Given the description of an element on the screen output the (x, y) to click on. 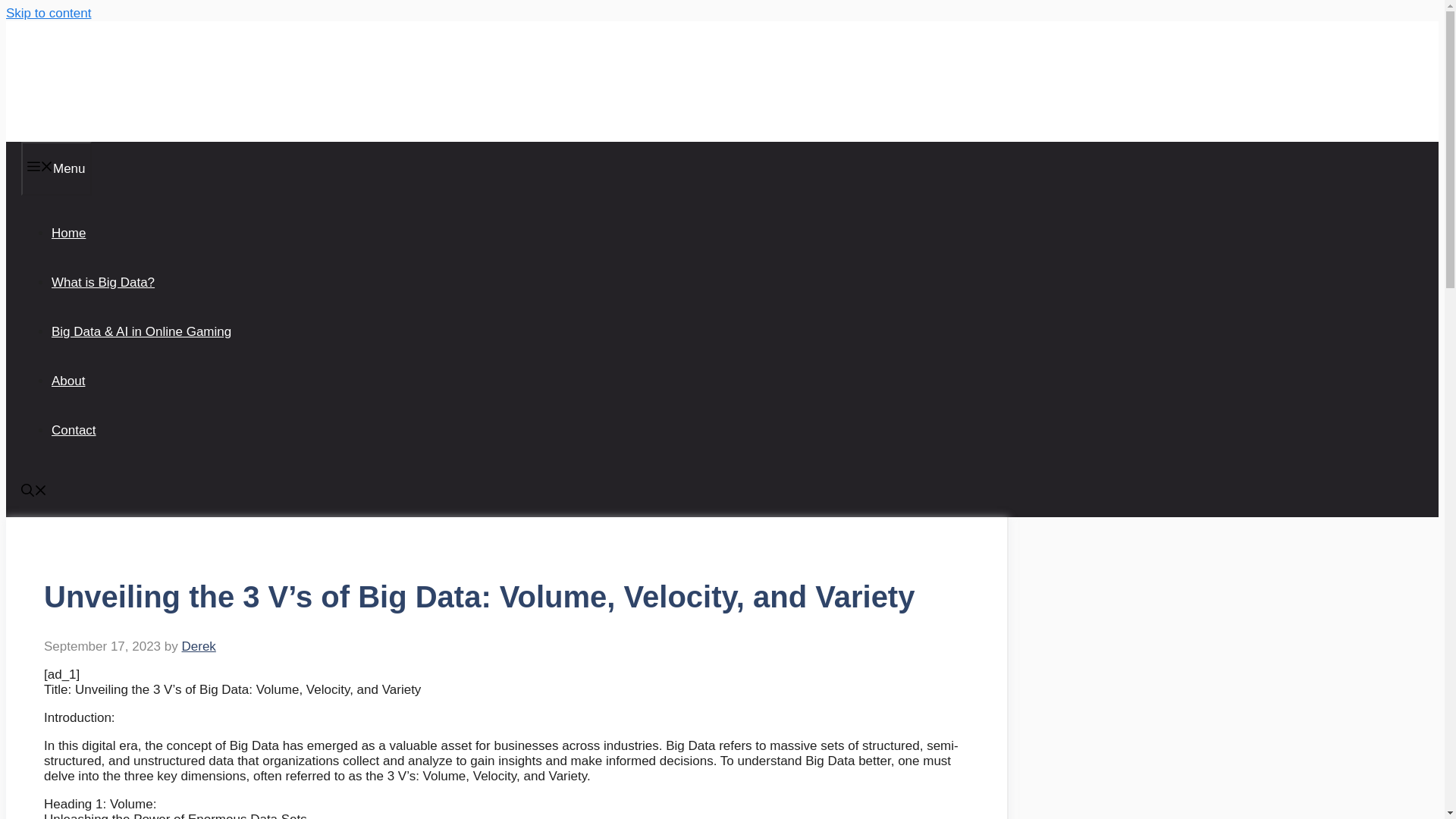
About (67, 380)
What is Big Data? (102, 282)
Home (67, 233)
Skip to content (47, 12)
View all posts by Derek (197, 646)
Skip to content (47, 12)
Contact (73, 430)
Derek (197, 646)
Menu (56, 168)
Byte-project.eu (99, 80)
